Given the description of an element on the screen output the (x, y) to click on. 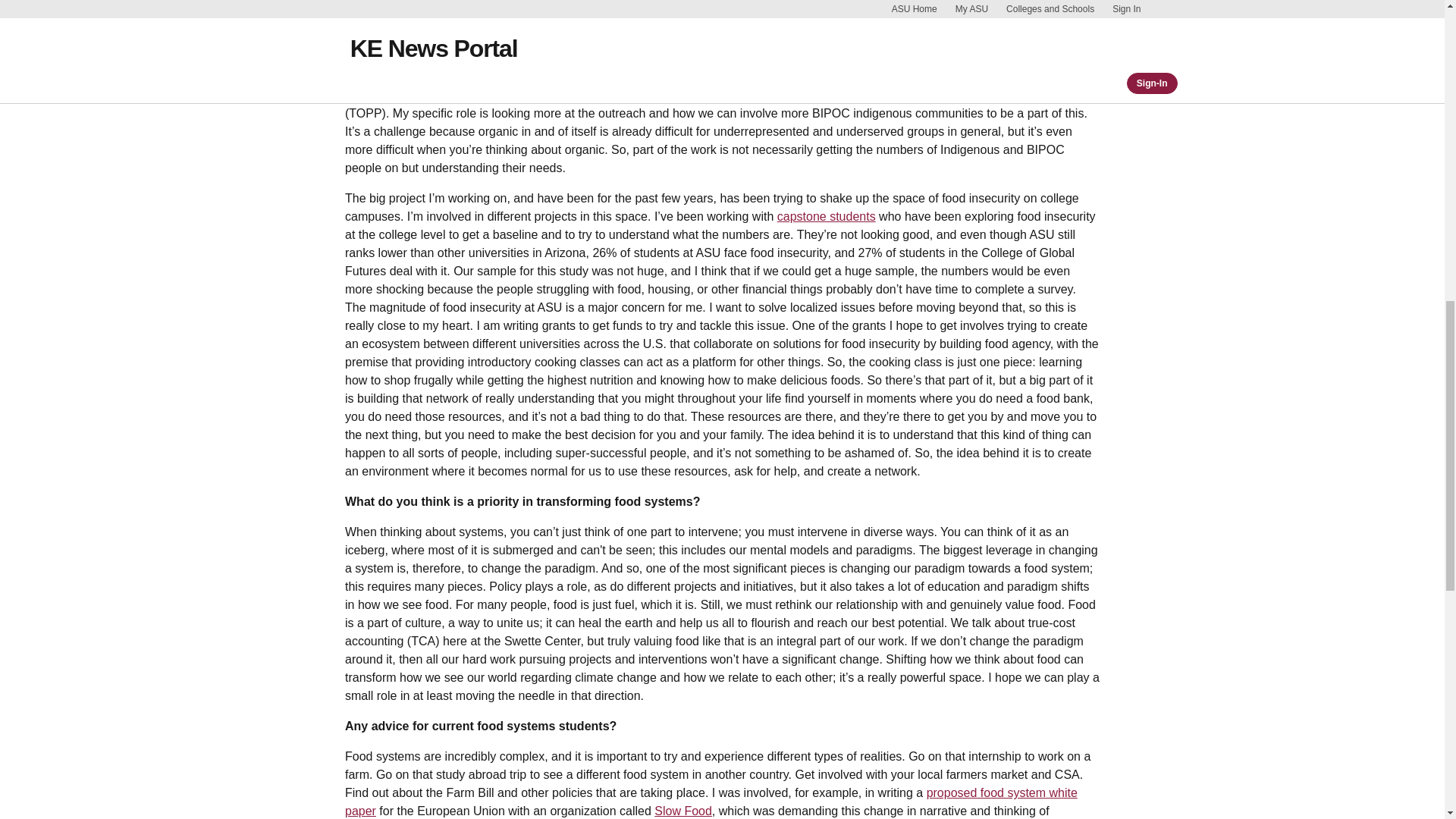
capstone students (826, 215)
proposed food system white paper (711, 801)
Slow Food (682, 810)
Transition to Organic Partnership Program (938, 94)
